Given the description of an element on the screen output the (x, y) to click on. 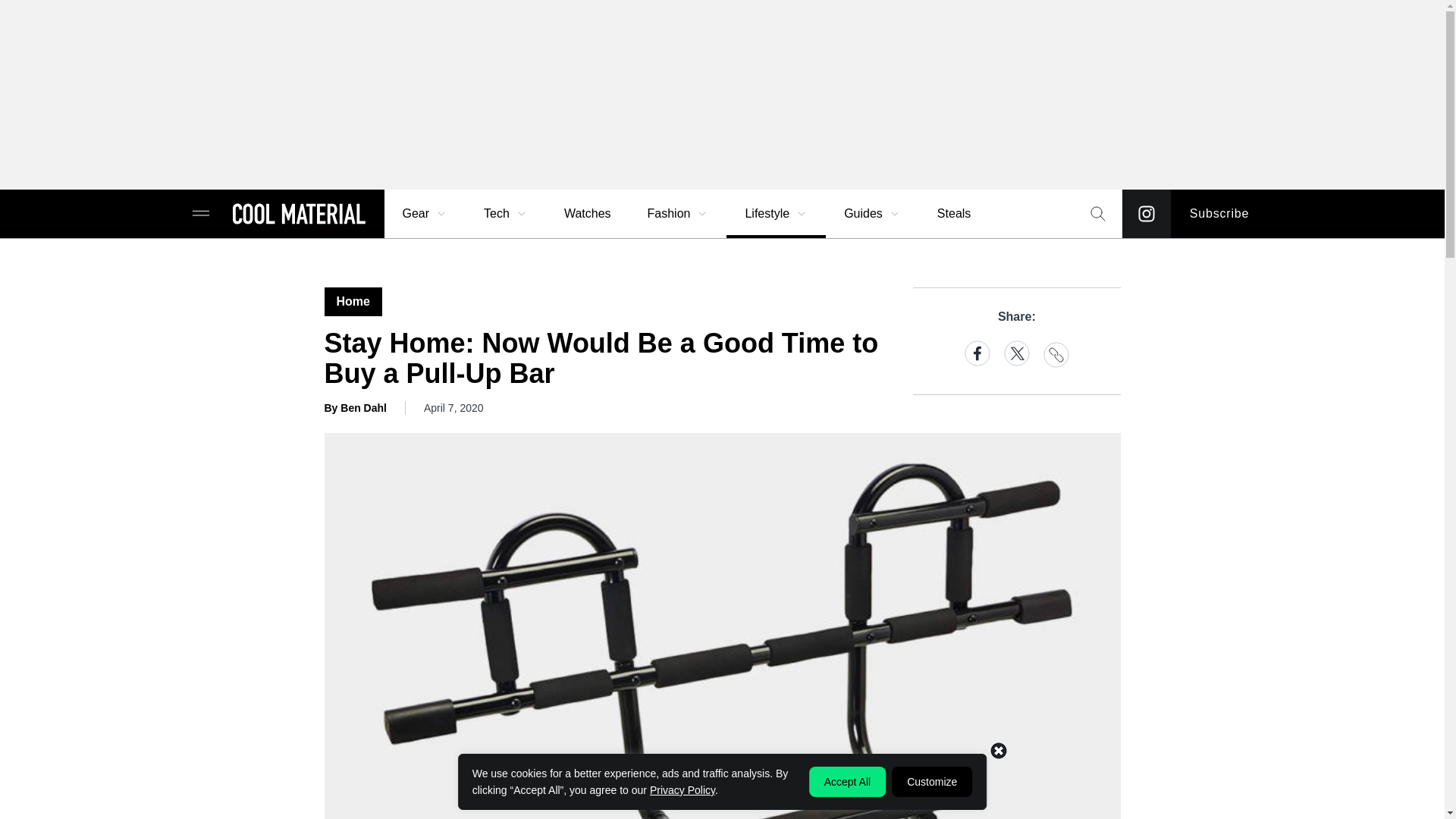
Watches (587, 213)
3rd party ad content (721, 785)
Lifestyle (775, 213)
Gear (424, 213)
Privacy Policy (681, 789)
3rd party ad content (721, 94)
Tech (505, 213)
Customize (931, 781)
Fashion (677, 213)
Accept All (847, 781)
